Given the description of an element on the screen output the (x, y) to click on. 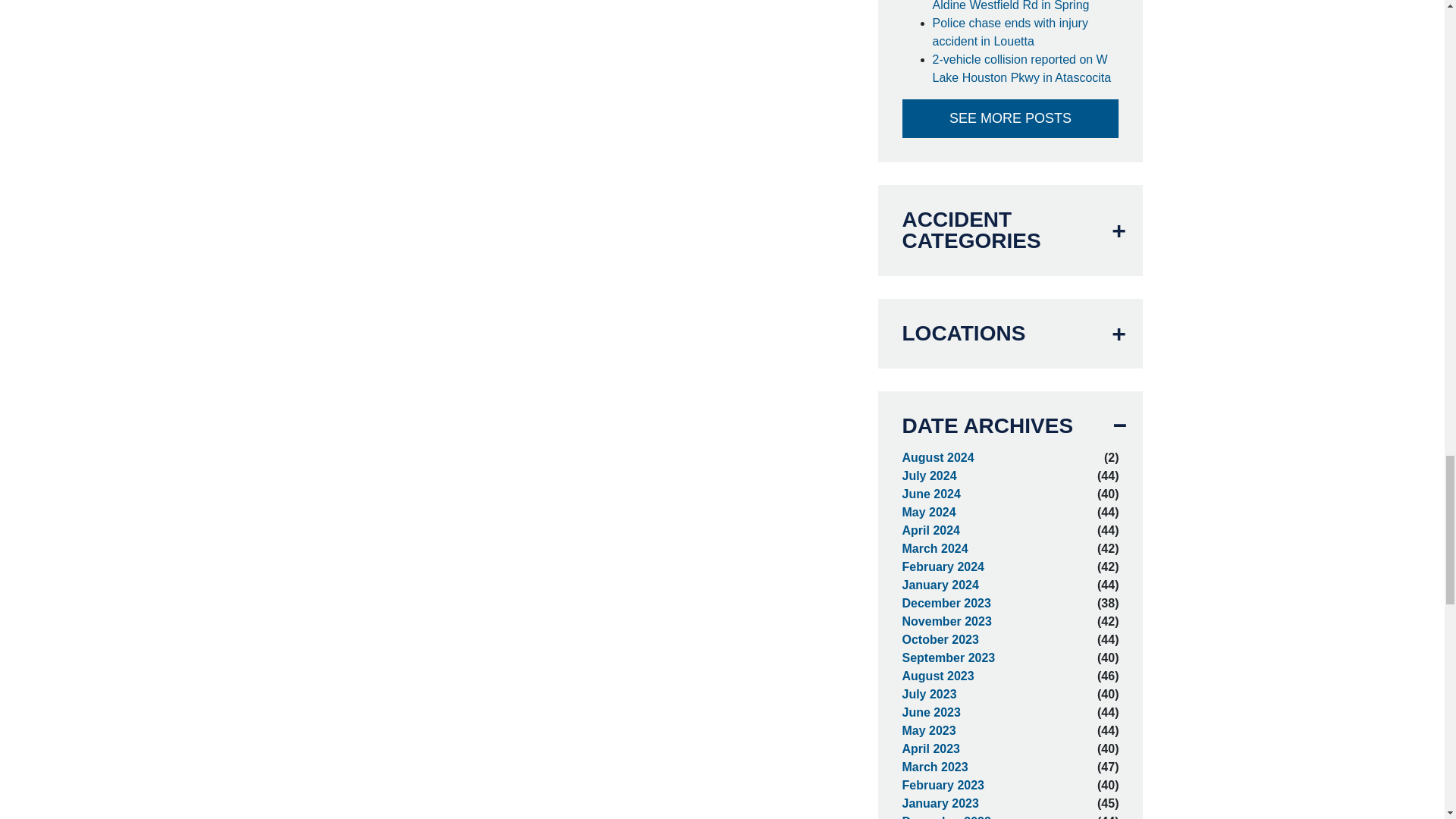
Police chase ends with injury accident in Louetta (1026, 32)
SEE MORE POSTS (1010, 118)
